Given the description of an element on the screen output the (x, y) to click on. 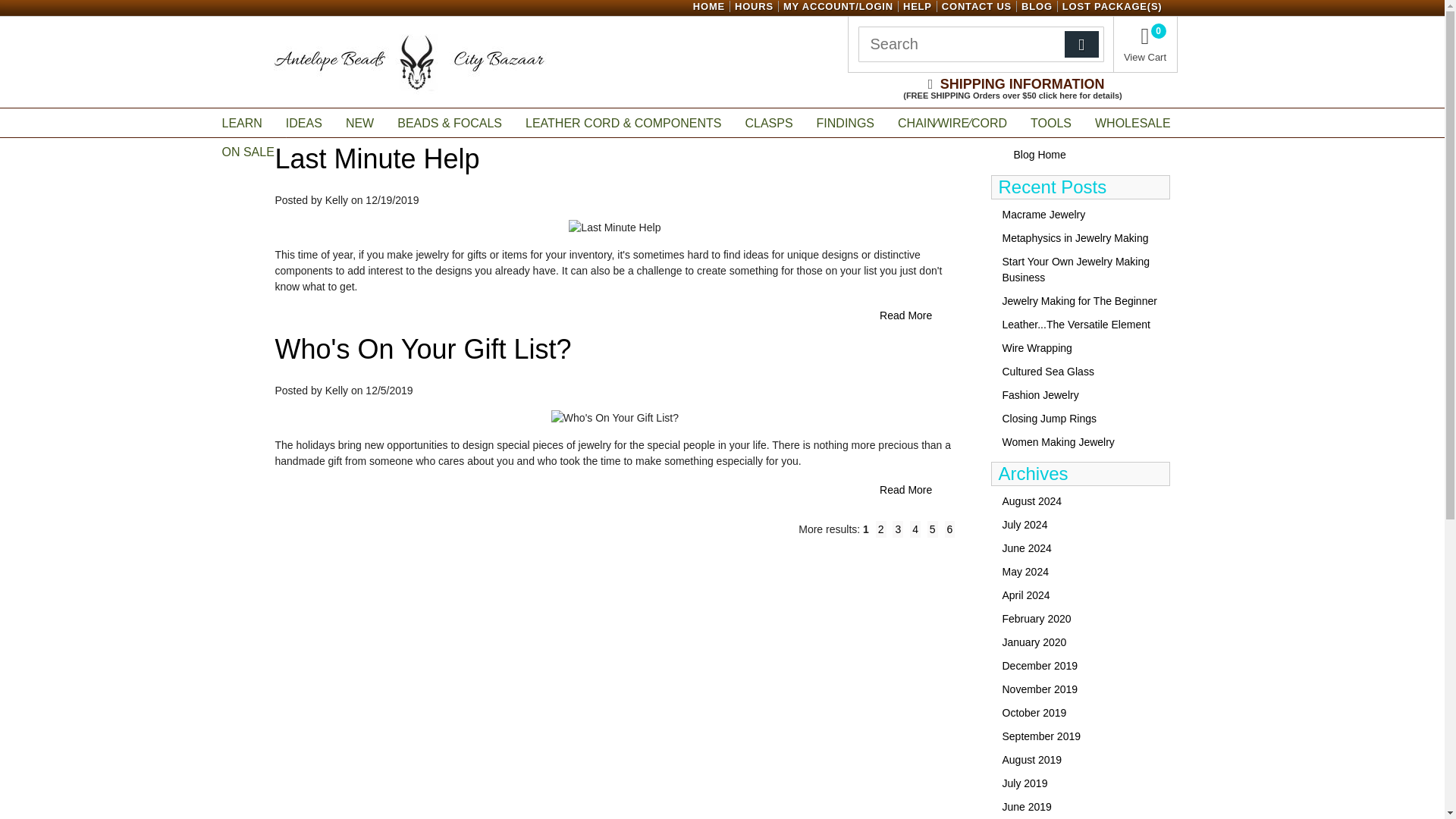
CONTACT US (976, 6)
HOME (709, 6)
HOURS (754, 6)
HELP (916, 6)
BLOG (1037, 6)
